Given the description of an element on the screen output the (x, y) to click on. 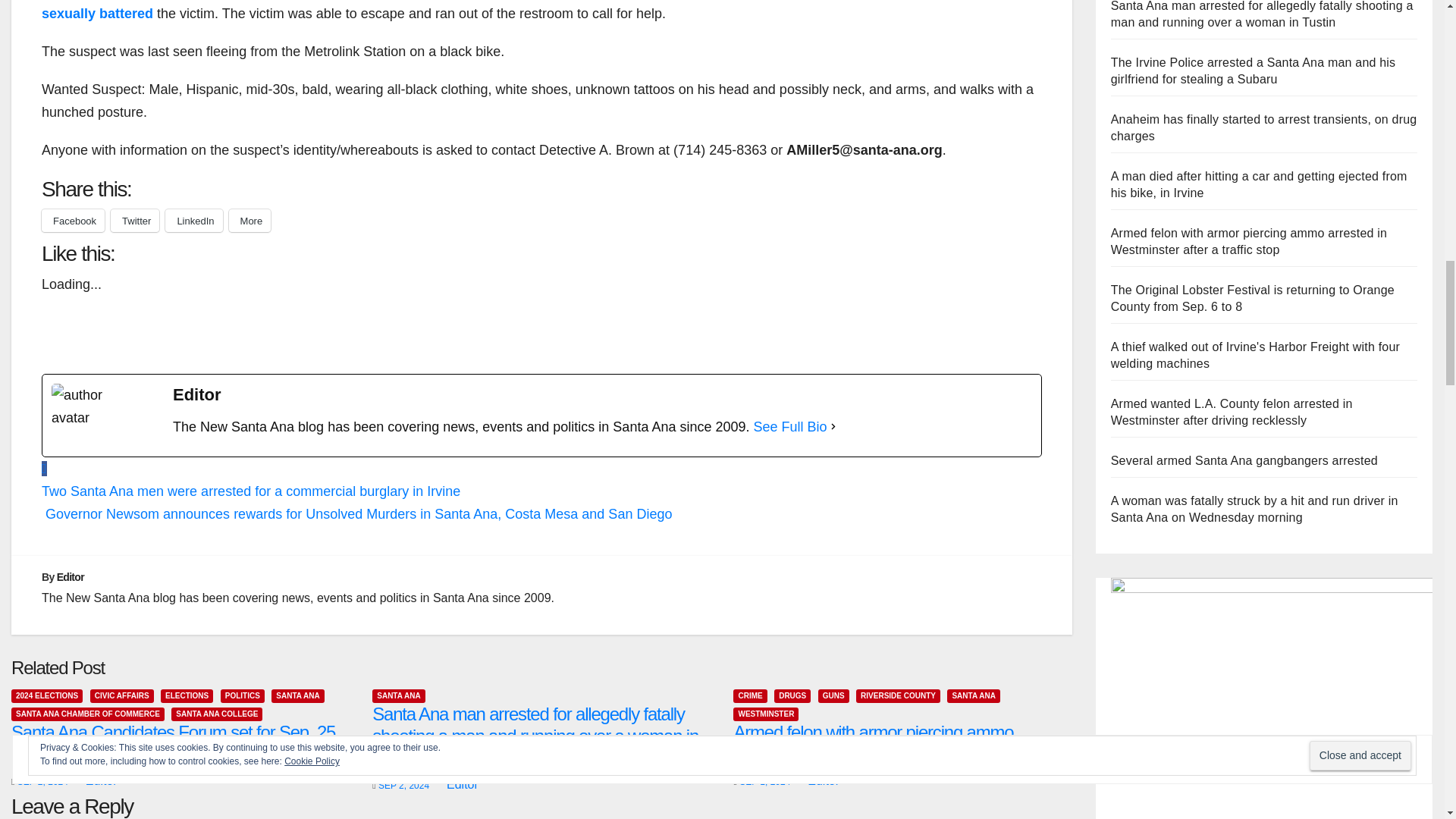
Click to share on LinkedIn (193, 220)
sexually battered (97, 13)
Click to share on Facebook (73, 220)
More (249, 220)
See Full Bio (790, 426)
Twitter (134, 220)
LinkedIn (193, 220)
Click to share on Twitter (134, 220)
Facebook (73, 220)
